Given the description of an element on the screen output the (x, y) to click on. 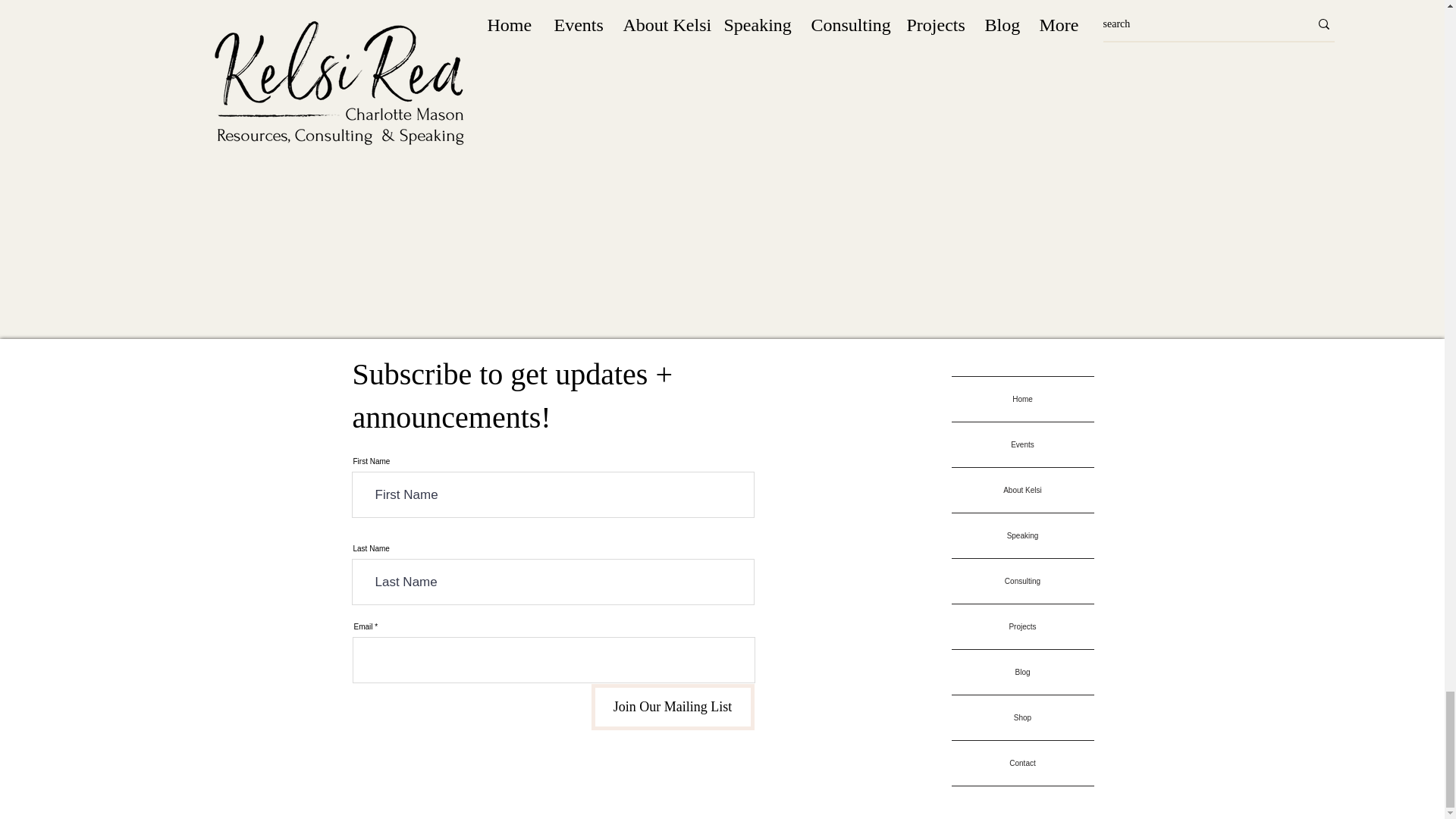
Contact (1021, 763)
About Kelsi (1021, 489)
Consulting (1021, 580)
Blog (1021, 672)
Projects (1021, 626)
Join Our Mailing List (672, 706)
Shop (1021, 717)
Events (1021, 444)
Home (1021, 398)
Speaking (1021, 535)
